Given the description of an element on the screen output the (x, y) to click on. 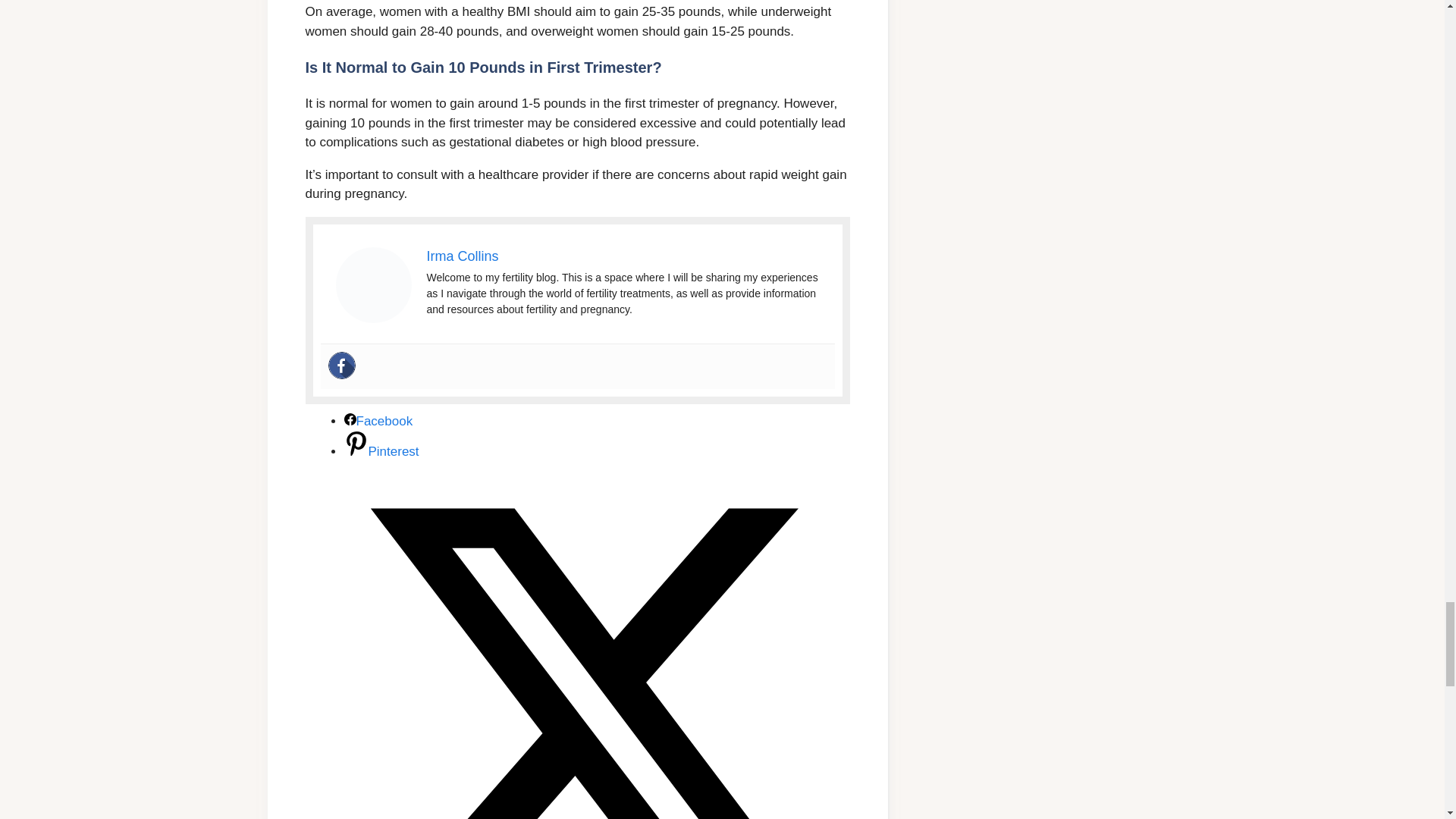
Pinterest (381, 451)
Facebook (378, 421)
Irma Collins (461, 255)
